Given the description of an element on the screen output the (x, y) to click on. 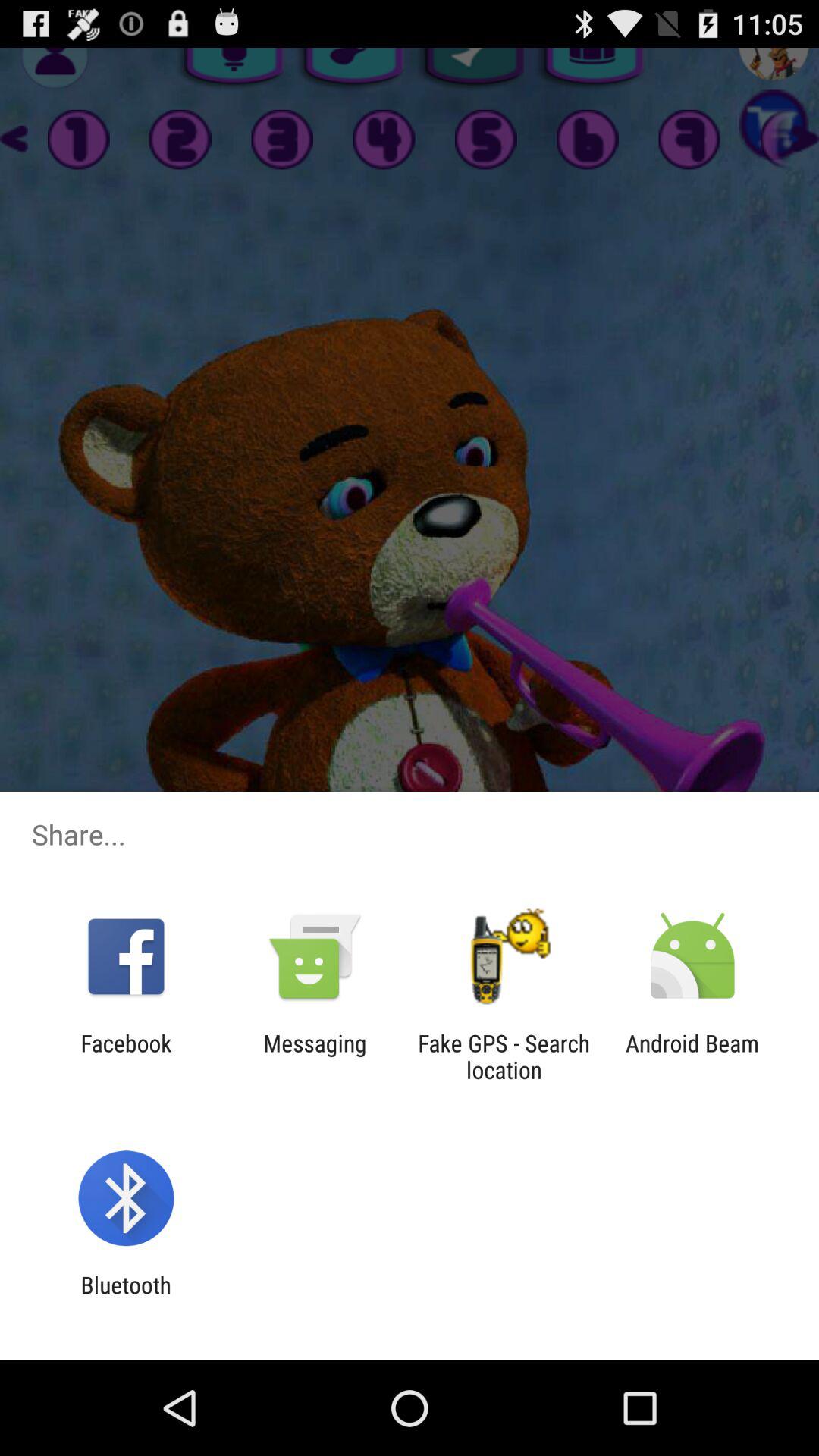
select the fake gps search app (503, 1056)
